Given the description of an element on the screen output the (x, y) to click on. 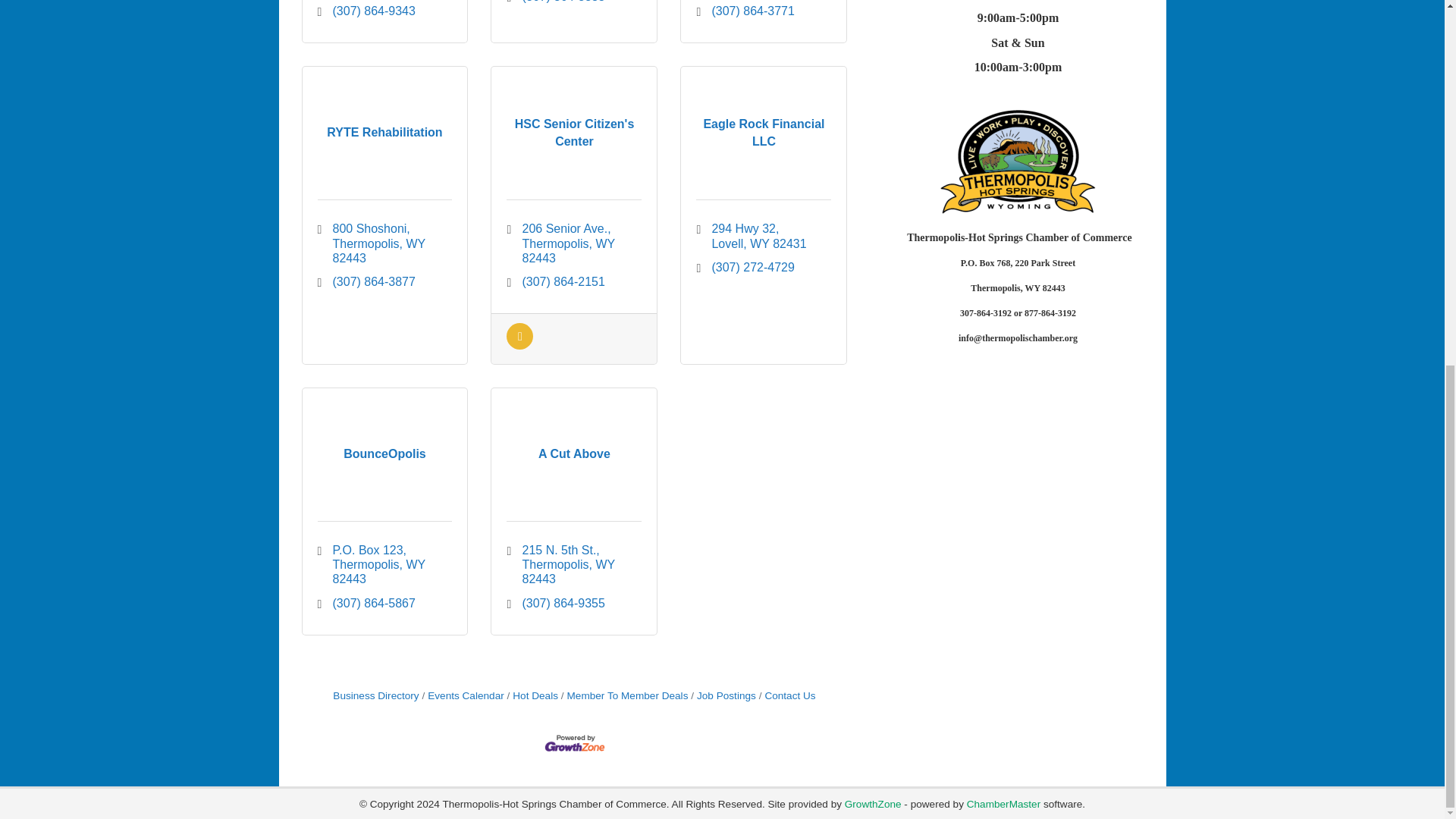
Job Postings (519, 345)
